Given the description of an element on the screen output the (x, y) to click on. 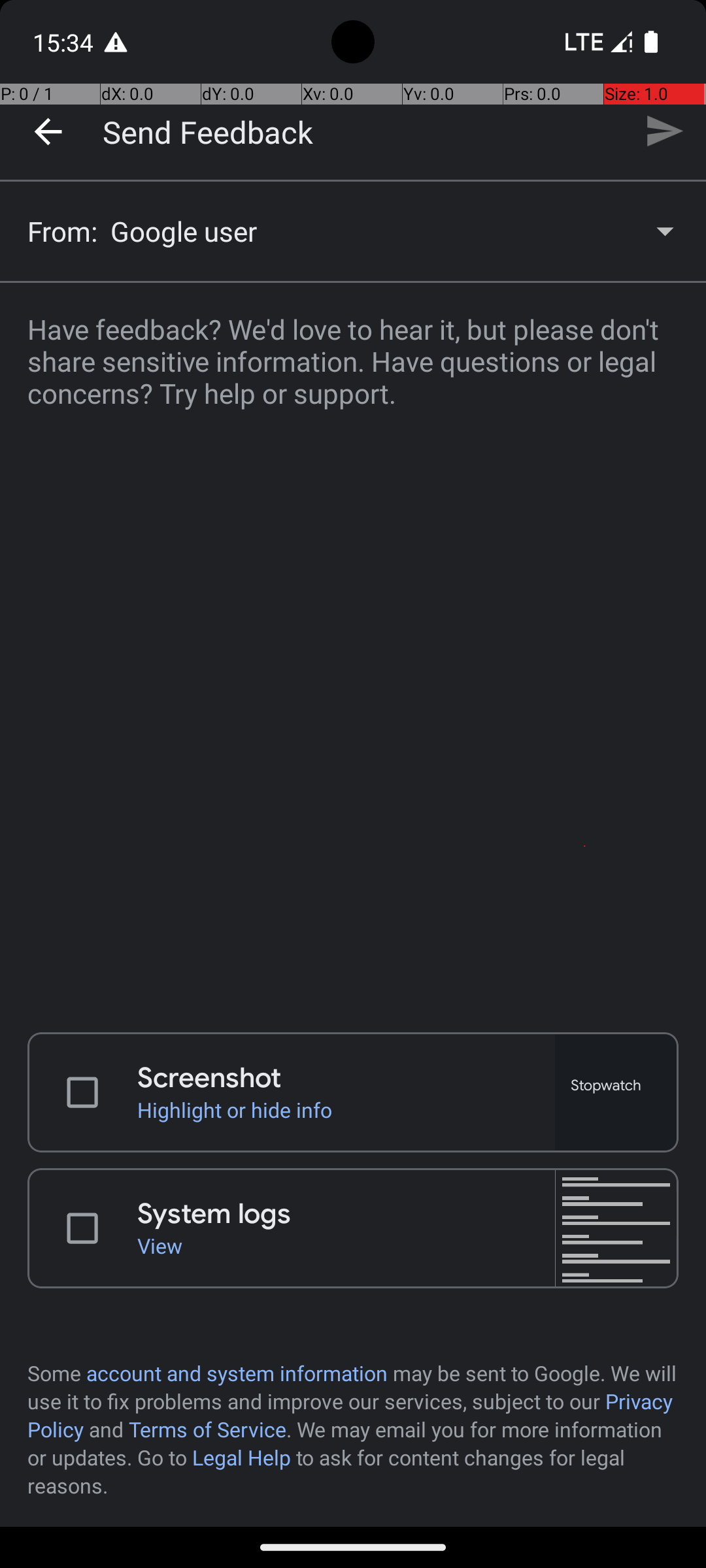
Send Feedback Element type: android.widget.TextView (207, 131)
Send Element type: android.widget.Button (664, 131)
Have feedback? We'd love to hear it, but please don't share sensitive information. Have questions or legal concerns? Try help or support. Element type: android.widget.EditText (353, 649)
Some account and system information may be sent to Google. We will use it to fix problems and improve our services, subject to our Privacy Policy and Terms of Service. We may email you for more information or updates. Go to Legal Help to ask for content changes for legal reasons. Element type: android.widget.TextView (352, 1428)
From:  Google user Element type: android.widget.TextView (352, 230)
Screenshot Element type: android.widget.TextView (345, 1077)
Highlight or hide info Element type: android.widget.TextView (345, 1109)
System logs Element type: android.widget.TextView (345, 1213)
View Element type: android.widget.TextView (345, 1245)
